Given the description of an element on the screen output the (x, y) to click on. 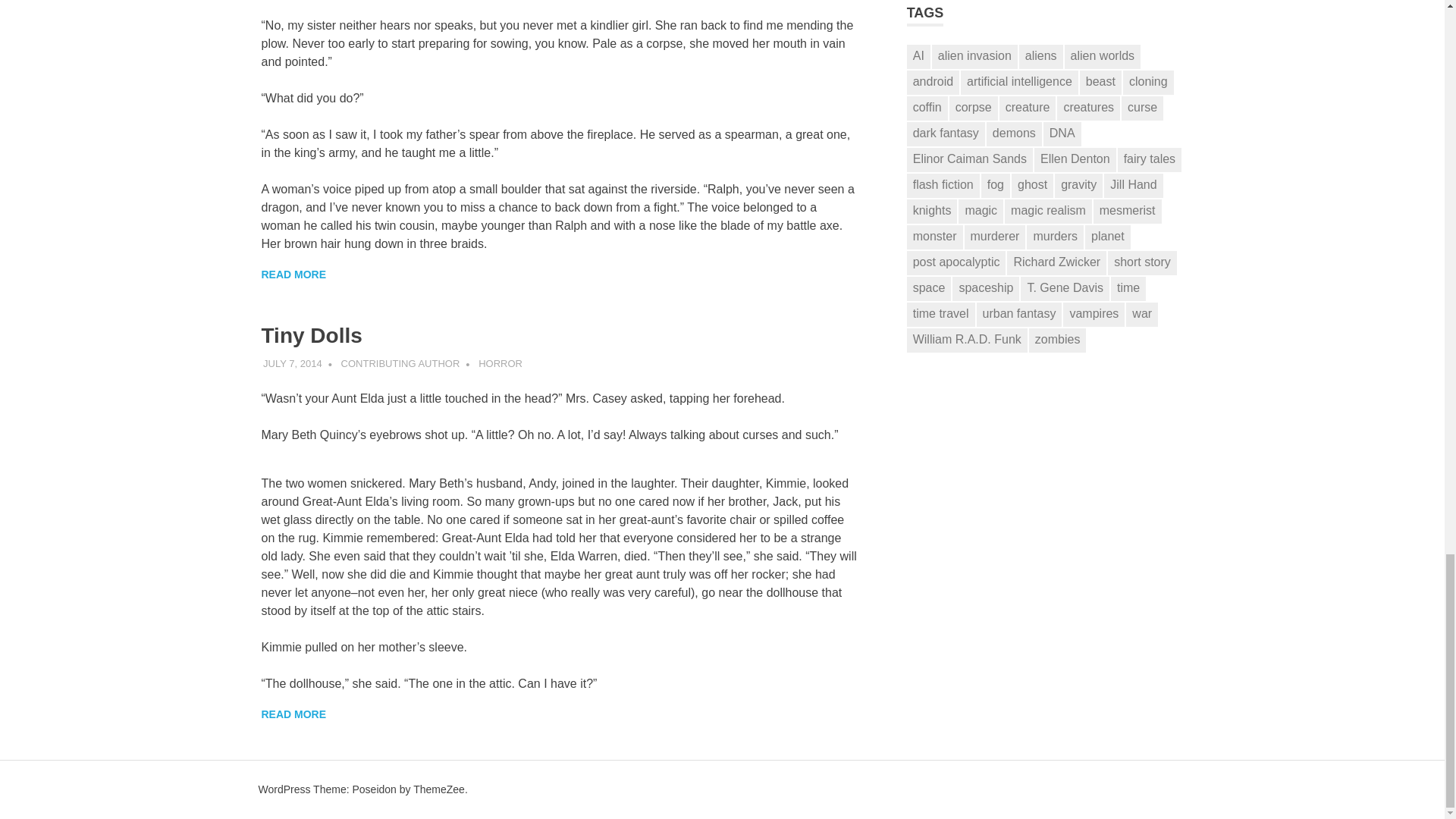
READ MORE (293, 714)
Tiny Dolls (310, 334)
8:00 am (292, 363)
READ MORE (293, 274)
View all posts by Contributing Author (400, 363)
CONTRIBUTING AUTHOR (400, 363)
HORROR (500, 363)
JULY 7, 2014 (292, 363)
